Given the description of an element on the screen output the (x, y) to click on. 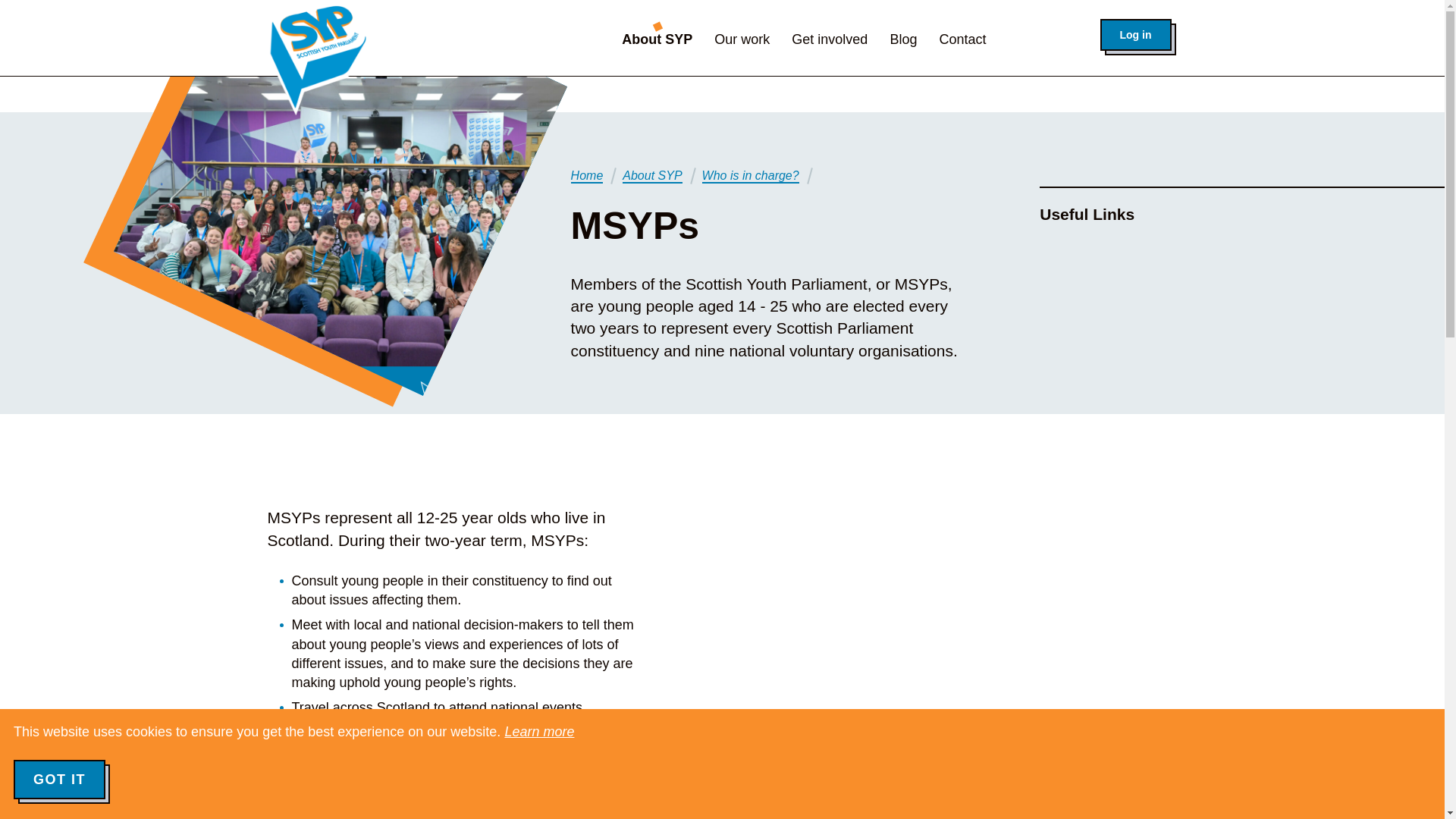
Home (587, 175)
Contact (962, 38)
Get involved (829, 38)
Who is in charge? (750, 175)
Log in (1134, 34)
policy (603, 726)
Visit homepage (317, 57)
projects (556, 770)
About SYP (652, 175)
Blog (903, 38)
campaigns (323, 789)
Our work (742, 38)
Sittings (371, 726)
About SYP (657, 38)
